Given the description of an element on the screen output the (x, y) to click on. 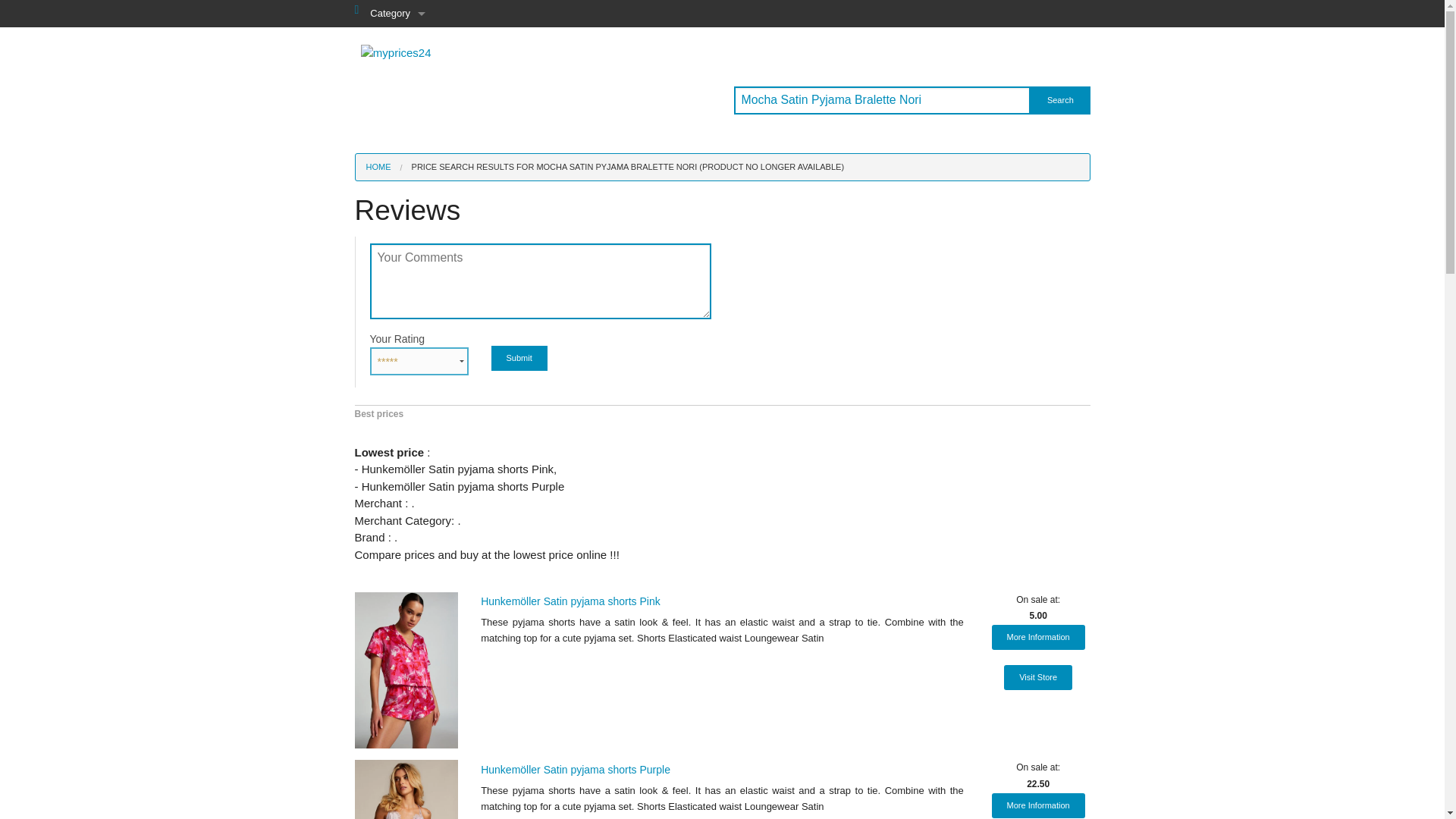
myprices24 (395, 53)
Submit (519, 358)
Category (397, 13)
myprices24 (395, 51)
Mocha Satin Pyjama Bralette Nori (881, 100)
Search (1059, 100)
Visit Store (1037, 677)
HOME (377, 166)
More Information (1037, 805)
More Information (1037, 637)
